Given the description of an element on the screen output the (x, y) to click on. 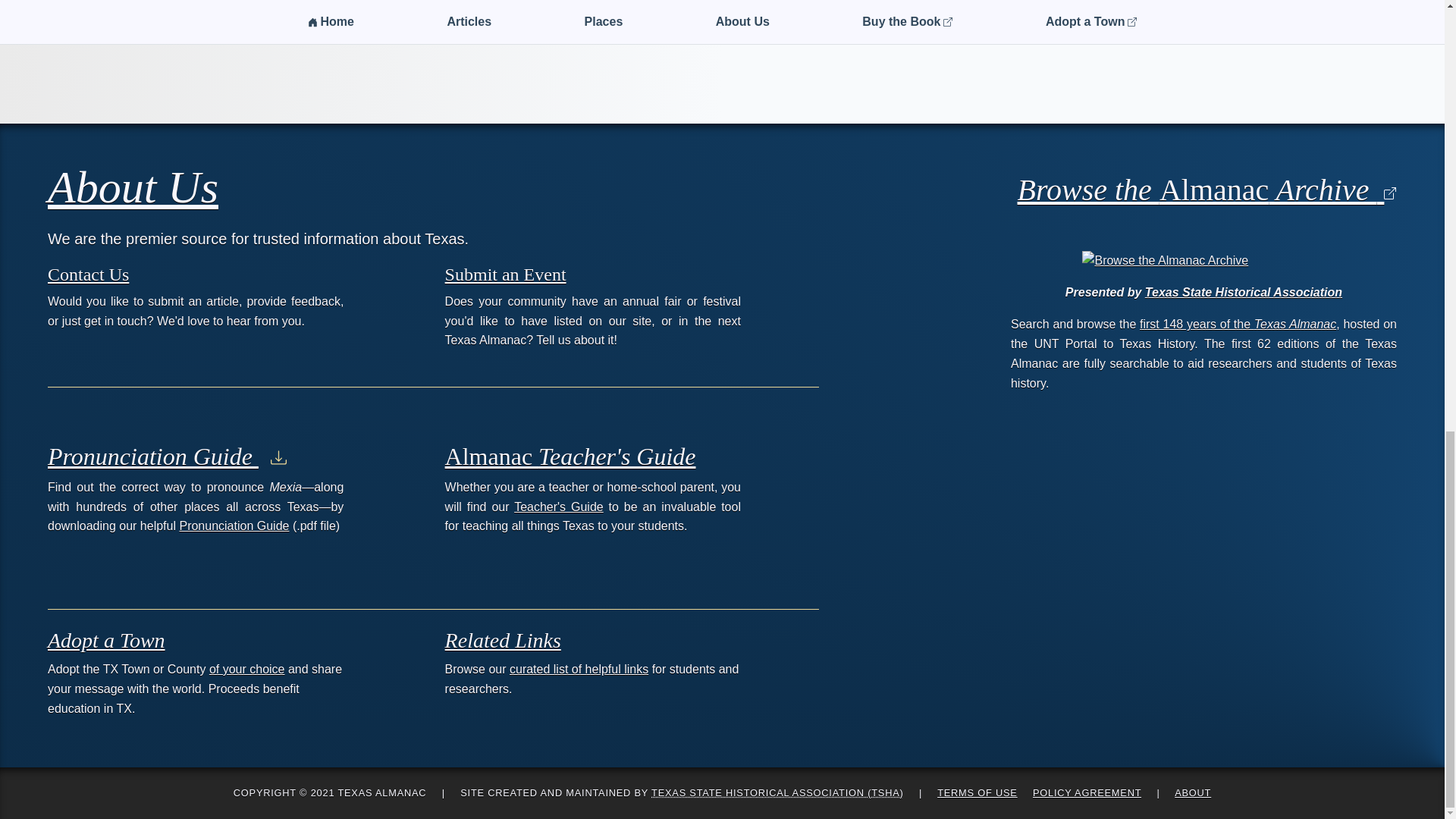
Adopt a Town (106, 639)
About Us (133, 187)
Teacher's Guide (558, 506)
Site Search (1352, 4)
Submit an Event (505, 274)
Contact Us (88, 274)
Pronunciation Guide (167, 456)
Pronunciation Guide (233, 525)
Almanac Teacher's Guide (570, 456)
